Given the description of an element on the screen output the (x, y) to click on. 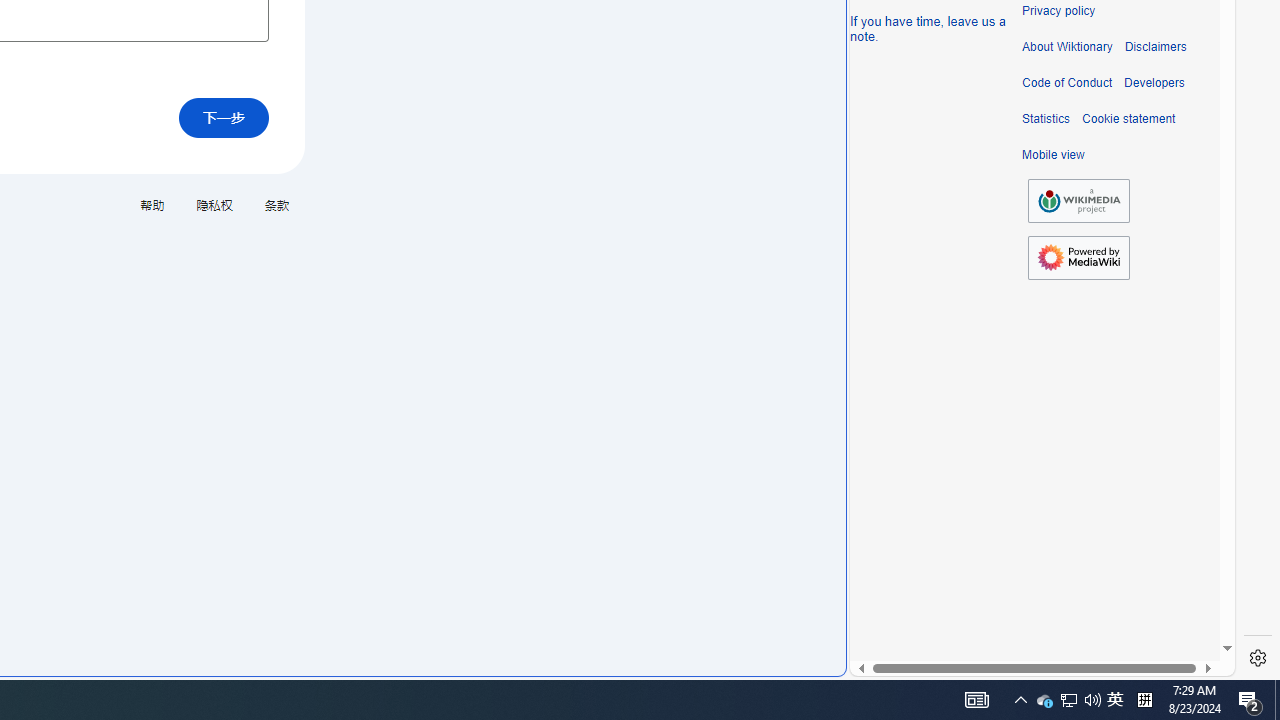
Mobile view (1053, 155)
Cookie statement (1128, 119)
Wikimedia Foundation (1078, 201)
Disclaimers (1154, 47)
Cookie statement (1128, 119)
Powered by MediaWiki (1078, 257)
